Given the description of an element on the screen output the (x, y) to click on. 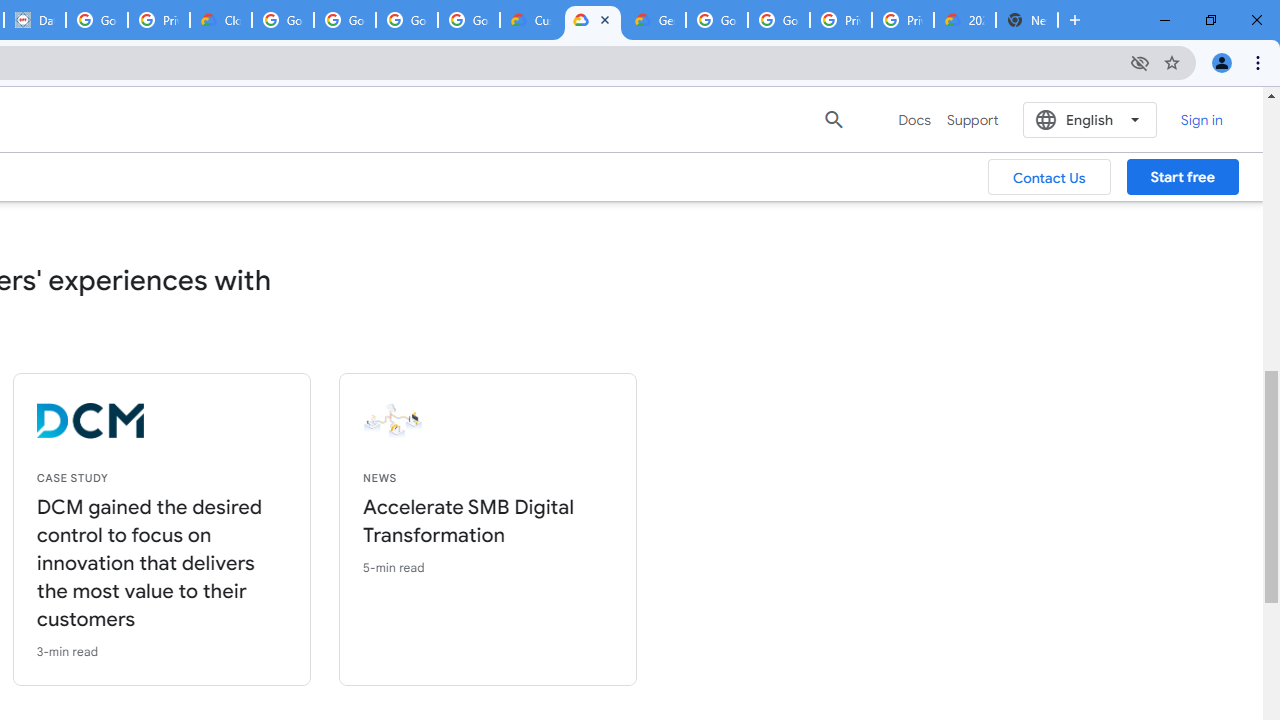
Gemini for Business and Developers | Google Cloud (654, 20)
Start free (1182, 177)
Cloud Data Processing Addendum | Google Cloud (220, 20)
Customer Care | Google Cloud (530, 20)
Enhanced Support | Google Cloud (592, 20)
Google Workspace - Specific Terms (406, 20)
